Given the description of an element on the screen output the (x, y) to click on. 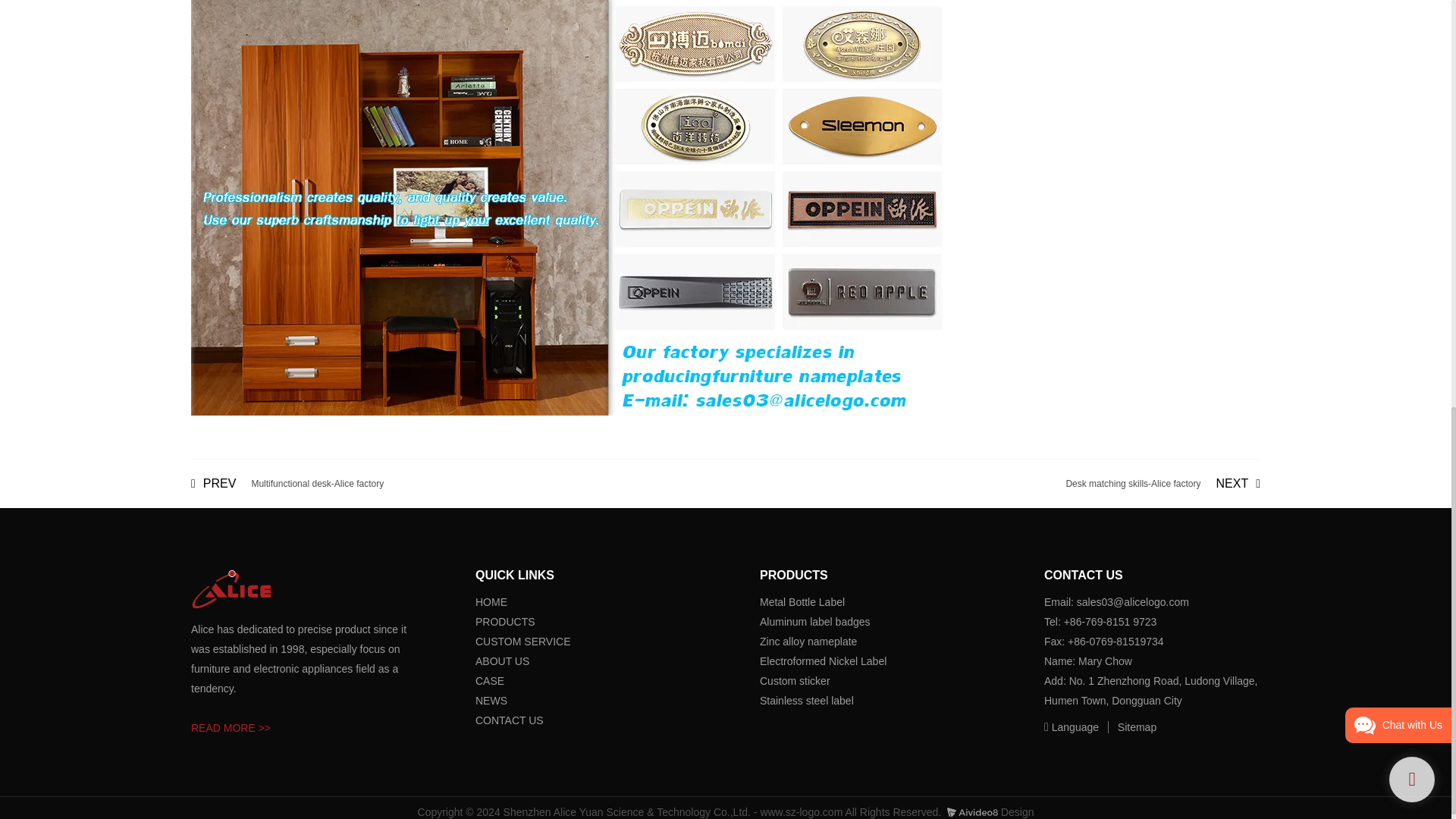
Zinc alloy nameplate (808, 641)
Stainless steel label (806, 700)
CONTACT US (509, 720)
Multifunctional desk-Alice factory (287, 483)
NE (1162, 483)
Sitemap (482, 700)
Aluminum label badges (1129, 726)
CUSTOM SERVICE (815, 621)
Metal Bottle Label (523, 641)
